Given the description of an element on the screen output the (x, y) to click on. 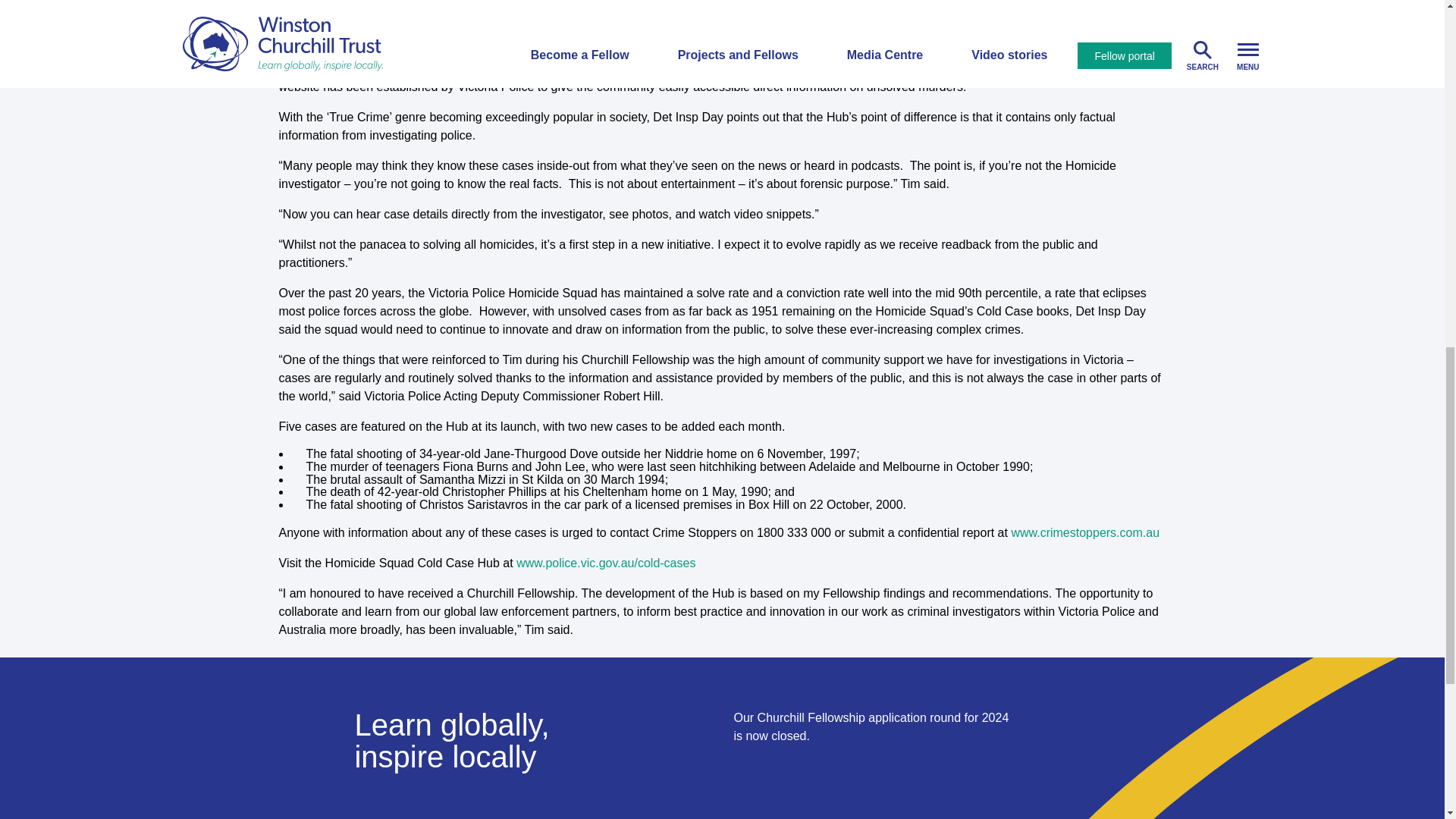
www.crimestoppers.com.au (1084, 532)
